Given the description of an element on the screen output the (x, y) to click on. 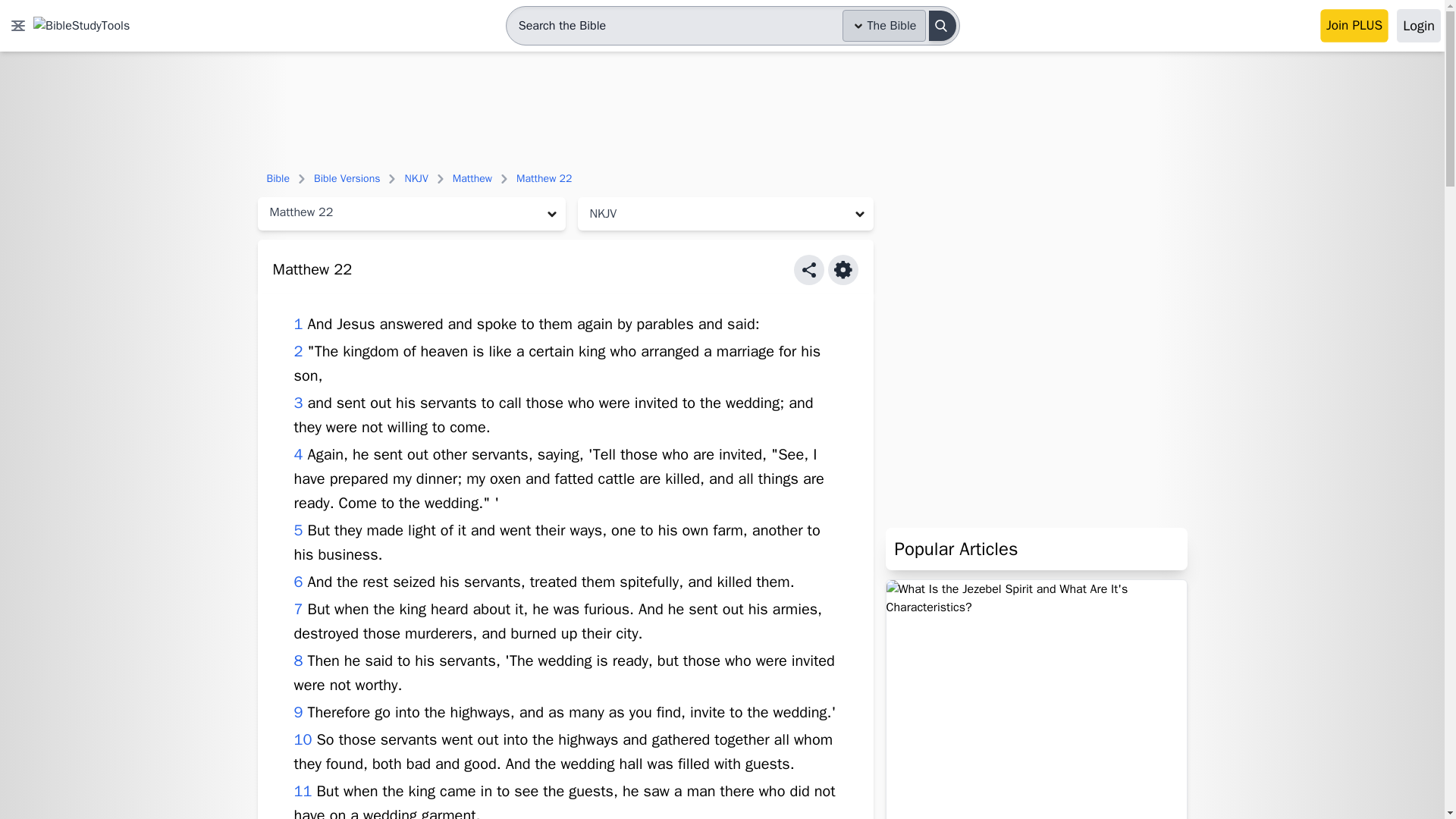
Scripture Settings (843, 269)
Login (1418, 25)
Join PLUS (1354, 25)
The Bible (884, 25)
